Given the description of an element on the screen output the (x, y) to click on. 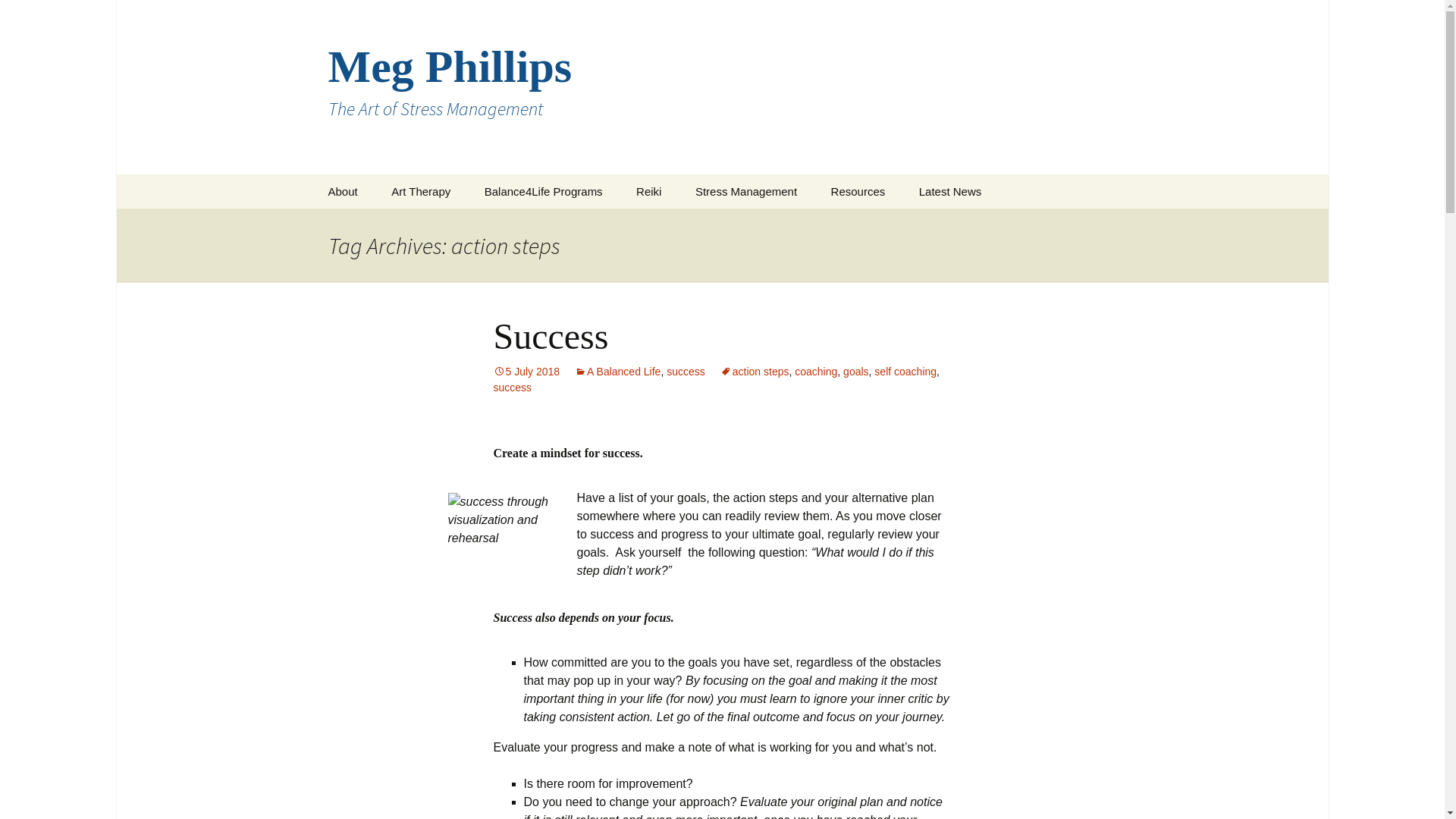
Reiki Element type: text (648, 191)
Success Element type: text (550, 336)
goals Element type: text (855, 371)
Balance4Life Programs Element type: text (543, 191)
5 July 2018 Element type: text (525, 371)
self coaching Element type: text (905, 371)
action steps Element type: text (754, 371)
Search Element type: text (18, 15)
Resources Element type: text (857, 191)
success Element type: text (685, 371)
Meg Phillips
The Art of Stress Management Element type: text (721, 87)
A Balanced Life Element type: text (617, 371)
Latest News Element type: text (950, 191)
Clinical Hypnotherapy Element type: text (545, 225)
coaching Element type: text (815, 371)
Consultations Element type: text (388, 225)
Skip to content Element type: text (312, 173)
Stress Management Element type: text (746, 191)
About Element type: text (342, 191)
success Element type: text (511, 387)
Art Therapy Element type: text (420, 191)
